Given the description of an element on the screen output the (x, y) to click on. 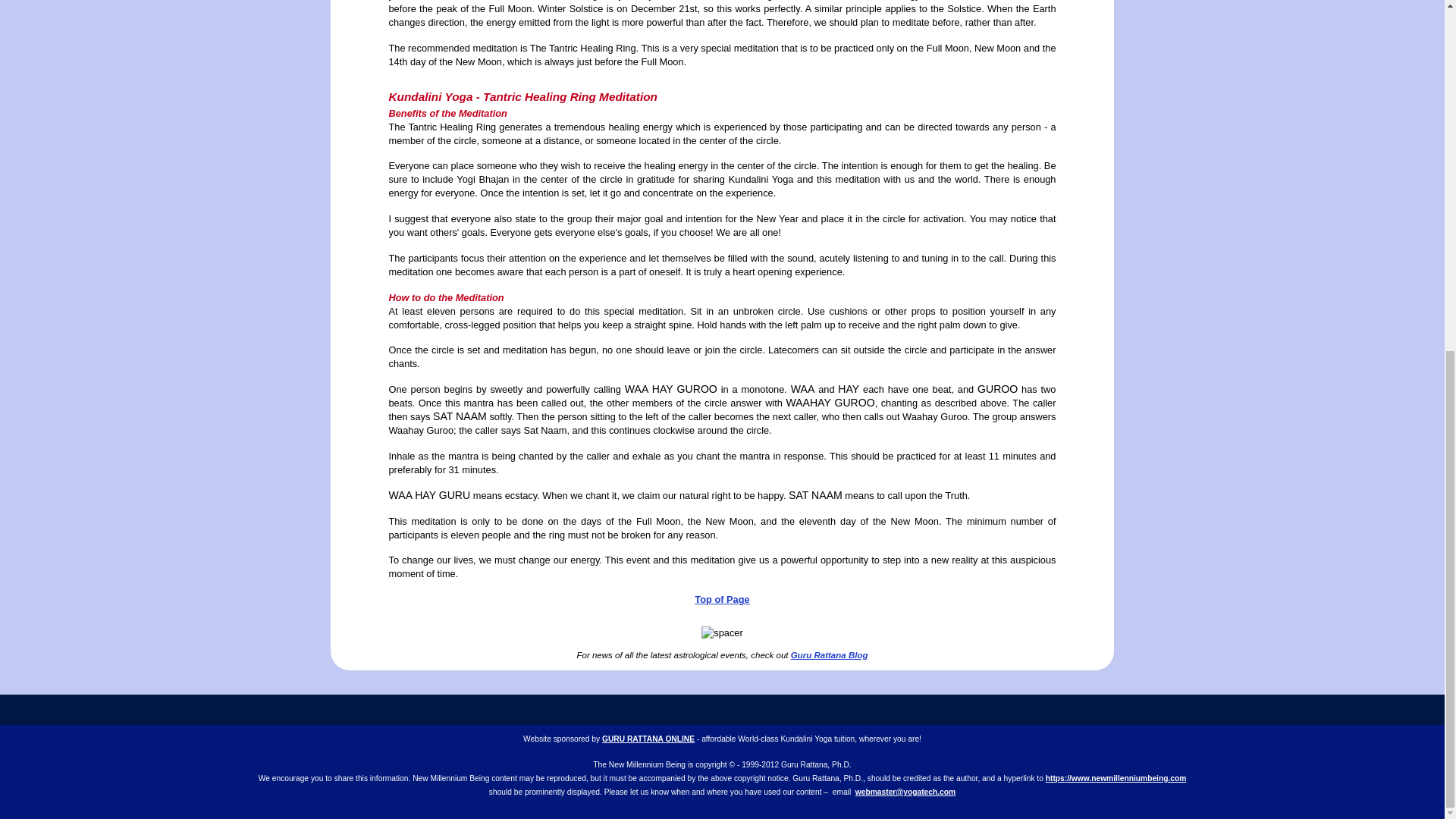
GURU RATTANA ONLINE (648, 738)
Top of Page (721, 599)
Guru Rattana Blog (828, 655)
